Given the description of an element on the screen output the (x, y) to click on. 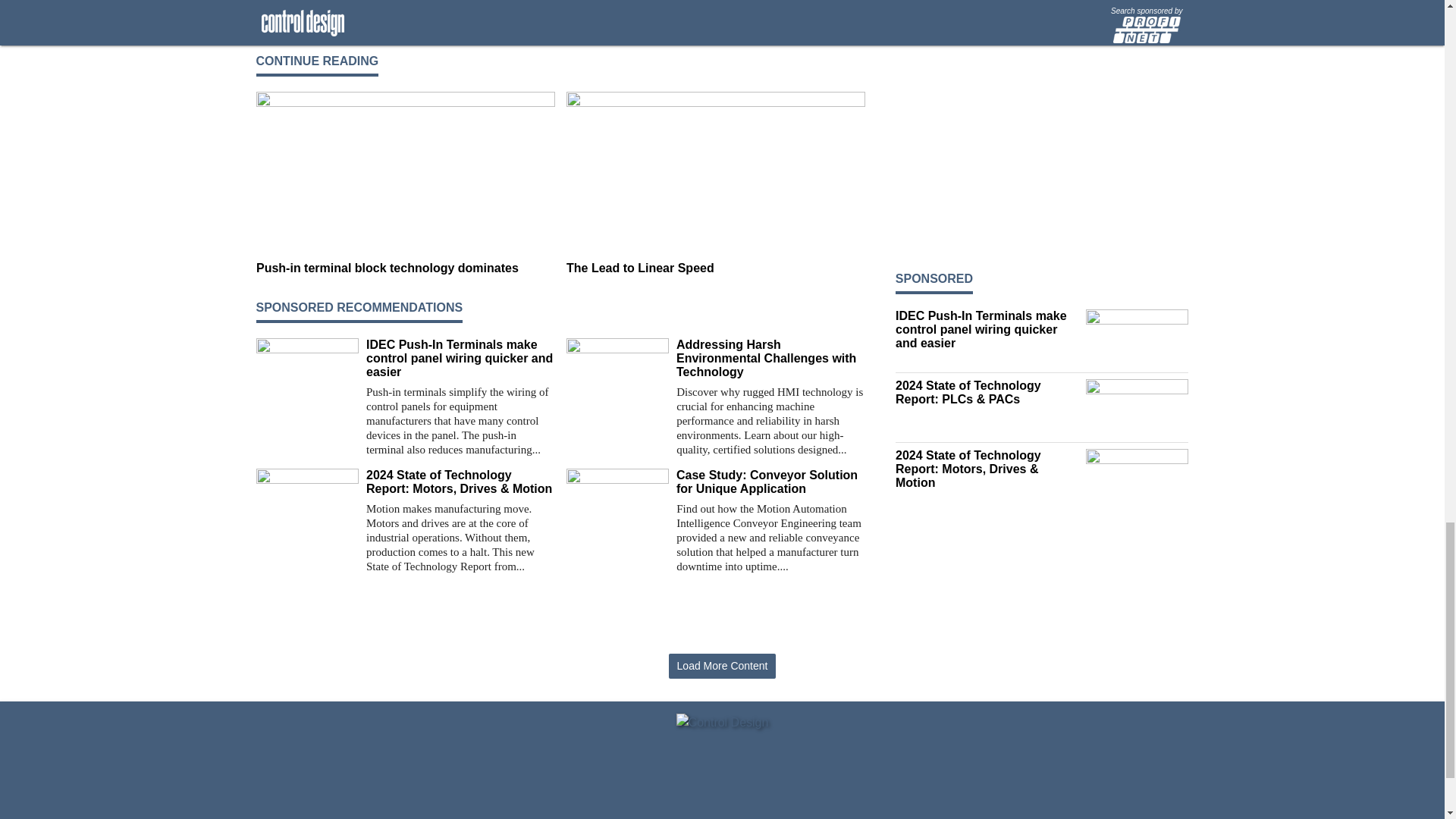
REGISTER (282, 2)
Push-in terminal block technology dominates (405, 268)
Addressing Harsh Environmental Challenges with Technology (770, 358)
The Lead to Linear Speed (715, 268)
Case Study: Conveyor Solution for Unique Application (770, 482)
